Given the description of an element on the screen output the (x, y) to click on. 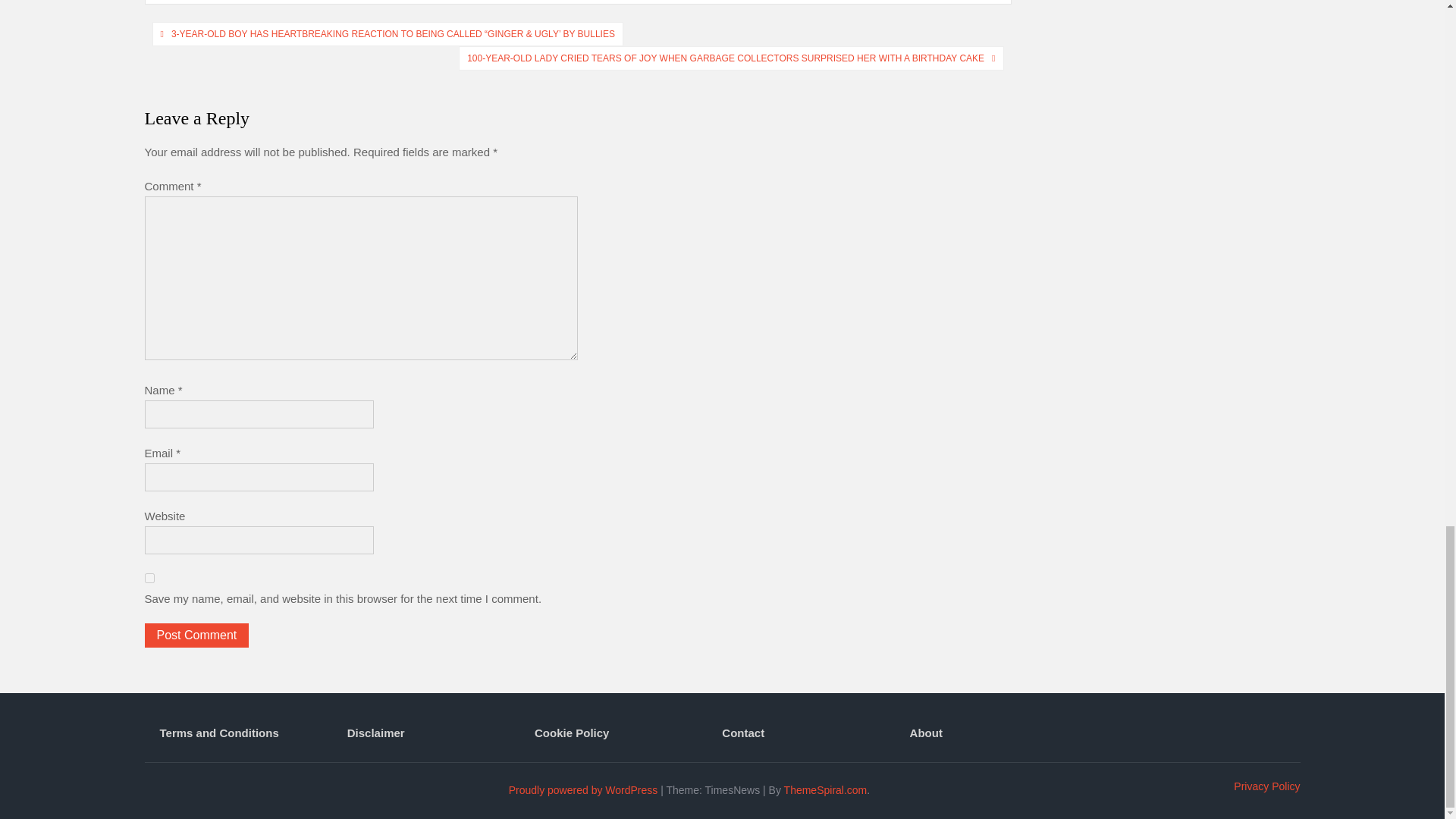
yes (149, 578)
Post Comment (196, 635)
